Given the description of an element on the screen output the (x, y) to click on. 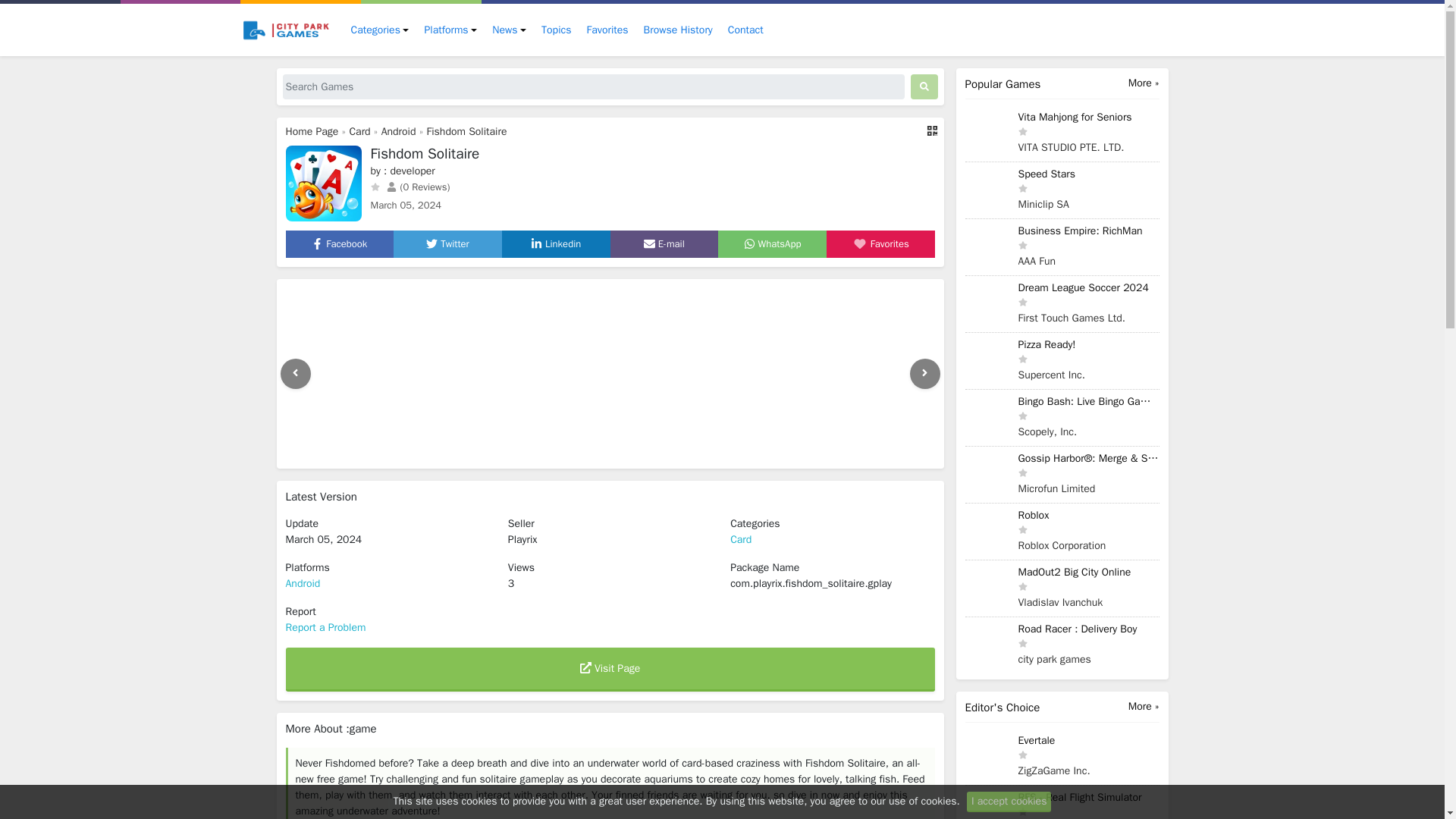
Platforms (450, 29)
Topics (555, 29)
Browse History (678, 29)
Home Page (311, 131)
Favorites (607, 29)
Categories (378, 29)
News (509, 29)
Contact (746, 29)
